Given the description of an element on the screen output the (x, y) to click on. 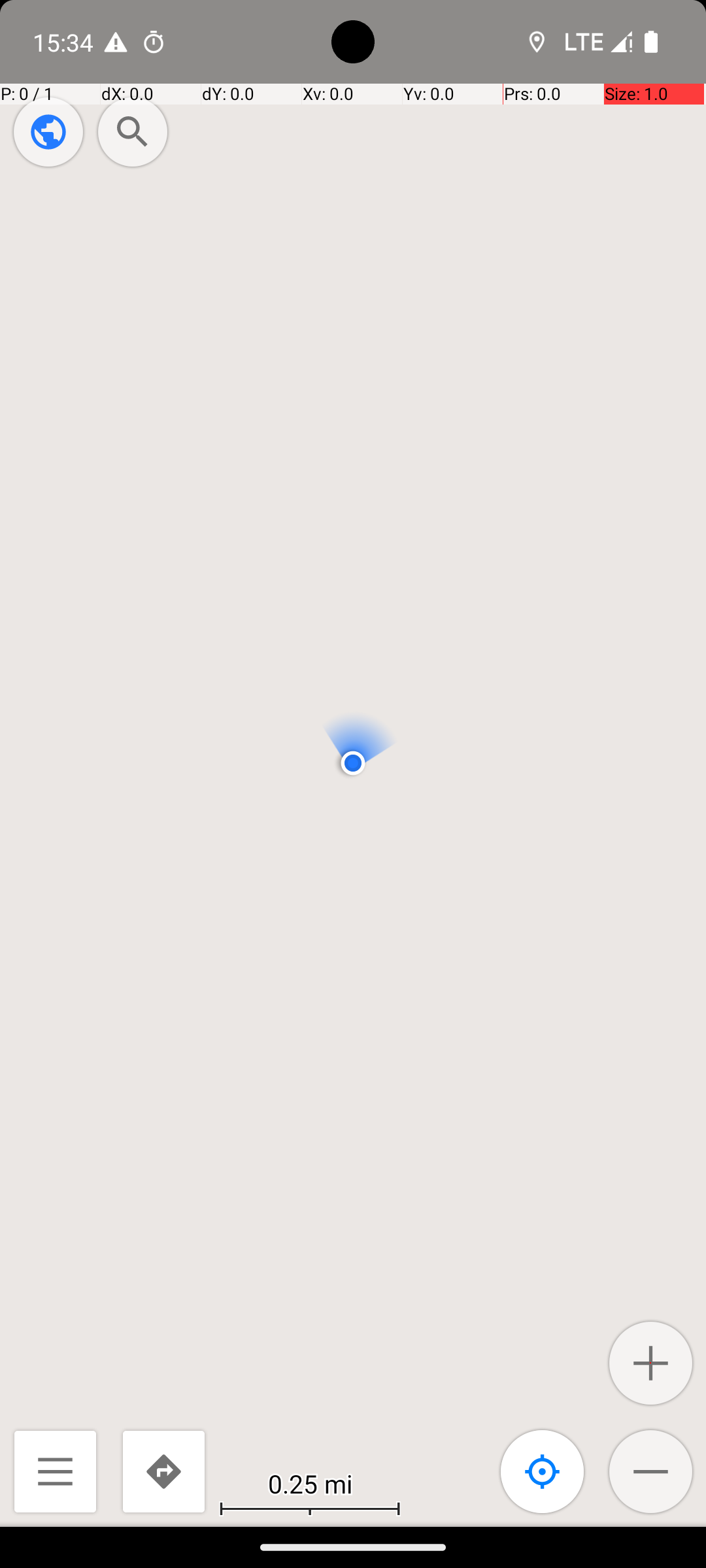
0.25 mi Element type: android.widget.TextView (309, 1483)
Map linked to location Element type: android.widget.ImageButton (542, 1471)
